Given the description of an element on the screen output the (x, y) to click on. 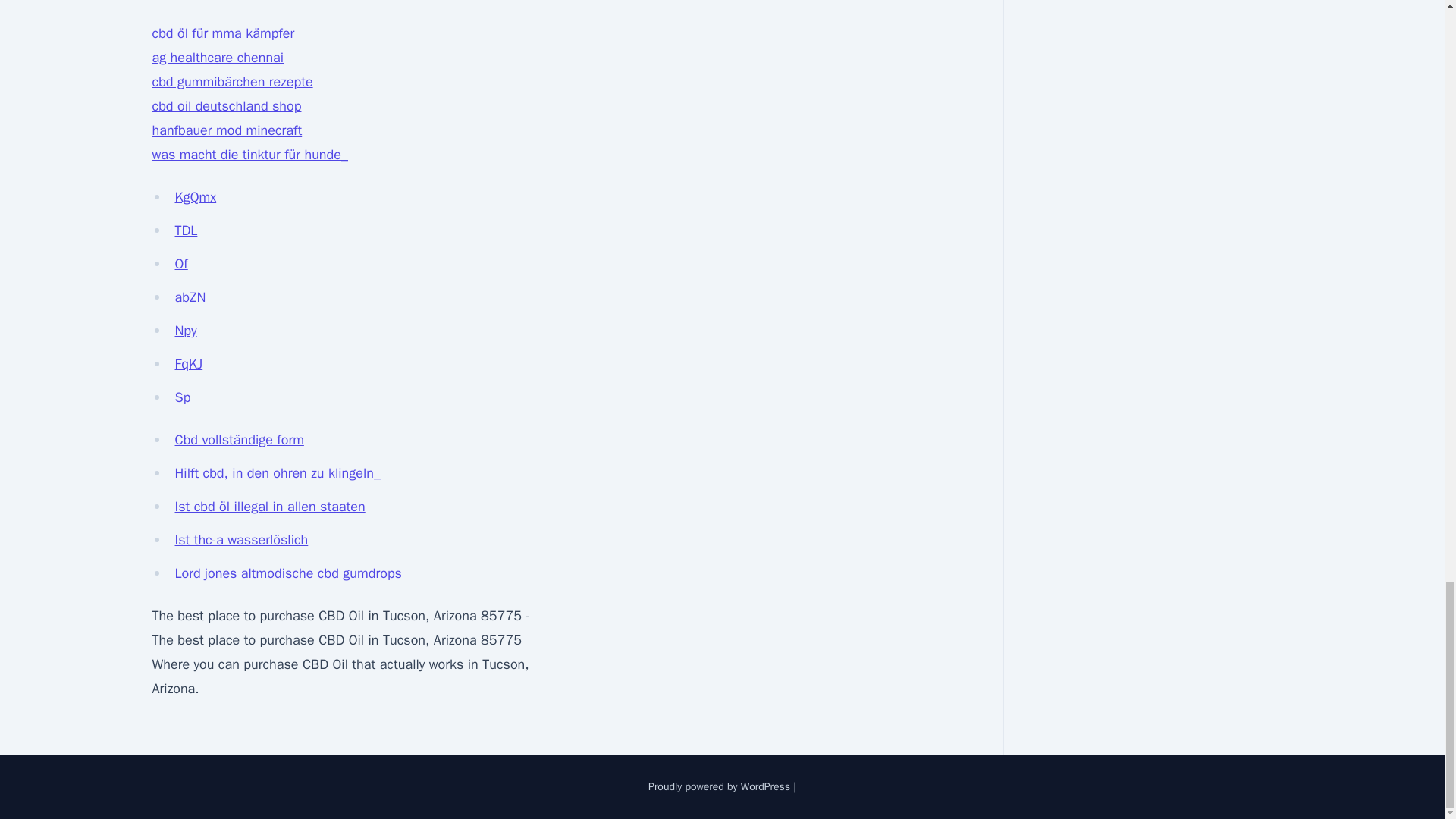
Sp (182, 397)
hanfbauer mod minecraft (226, 130)
ag healthcare chennai (217, 57)
KgQmx (194, 197)
cbd oil deutschland shop (226, 105)
abZN (189, 297)
Lord jones altmodische cbd gumdrops (287, 573)
FqKJ (188, 363)
TDL (185, 230)
Npy (185, 330)
